Given the description of an element on the screen output the (x, y) to click on. 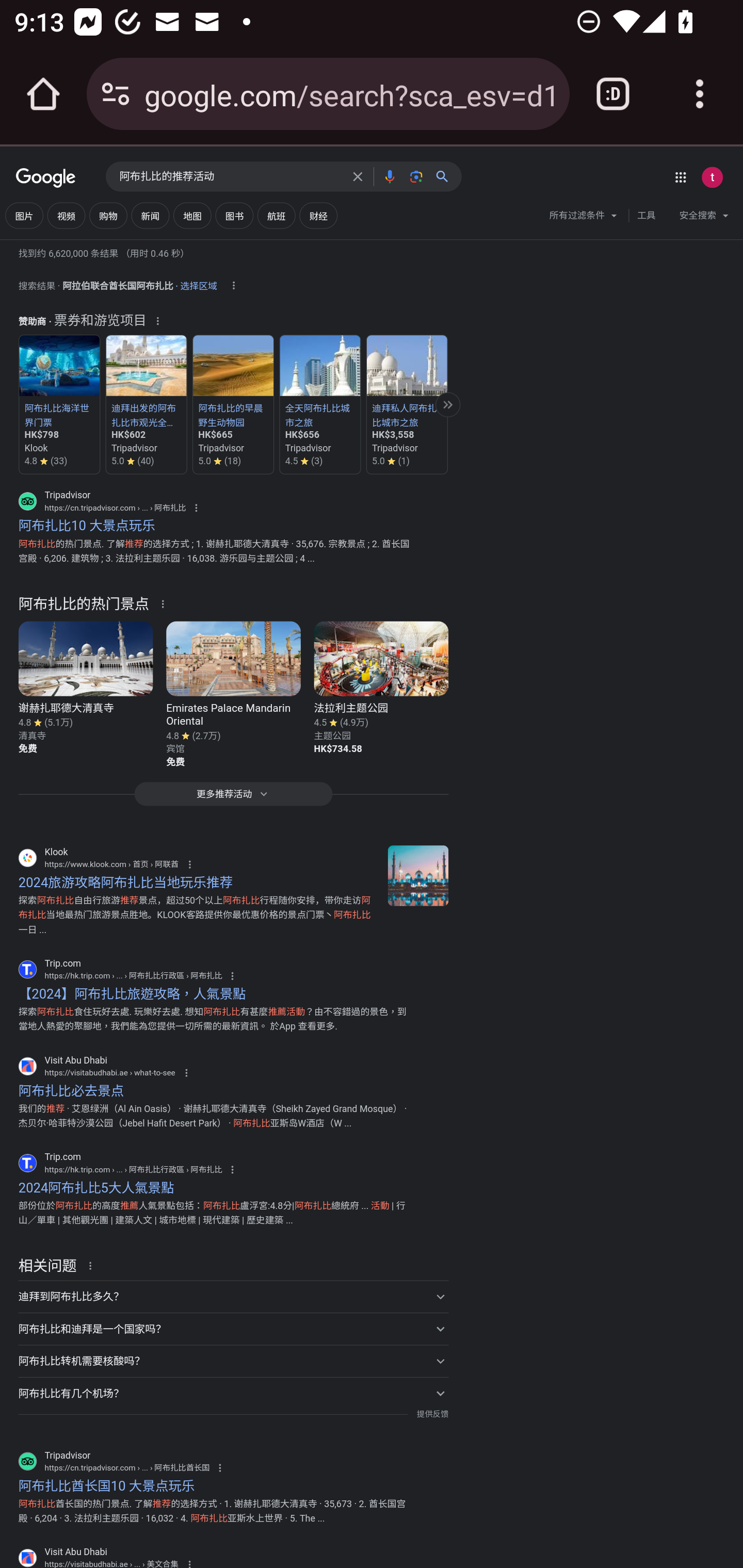
Open the home page (43, 93)
Connection is secure (115, 93)
Switch or close tabs (612, 93)
Customize and control Google Chrome (699, 93)
清除 (357, 176)
按语音搜索 (389, 176)
按图搜索 (415, 176)
搜索 (446, 176)
Google 应用 (680, 176)
Google 账号： test appium (testappium002@gmail.com) (712, 176)
Google (45, 178)
阿布扎比的推荐活动 (229, 177)
图片 (24, 215)
视频 (65, 215)
购物 (107, 215)
新闻 (149, 215)
地图 (191, 215)
图书 (234, 215)
航班 (276, 215)
财经 (318, 215)
所有过滤条件 (583, 217)
工具 (646, 215)
安全搜索 (703, 217)
选择区域 (197, 282)
位置信息使用方式 (232, 285)
为什么会显示该广告？ (157, 320)
更多推荐活动 (447, 404)
关于这条结果的详细信息 (165, 602)
更多推荐活动 (232, 799)
131-abu-dhabi-things-to-do (417, 875)
关于这条结果的详细信息 (93, 1264)
迪拜到阿布扎比多久？ (232, 1295)
阿布扎比和迪拜是一个国家吗？ (232, 1328)
阿布扎比转机需要核酸吗？ (232, 1360)
阿布扎比有几个机场？ (232, 1392)
提供反馈 (432, 1414)
